Given the description of an element on the screen output the (x, y) to click on. 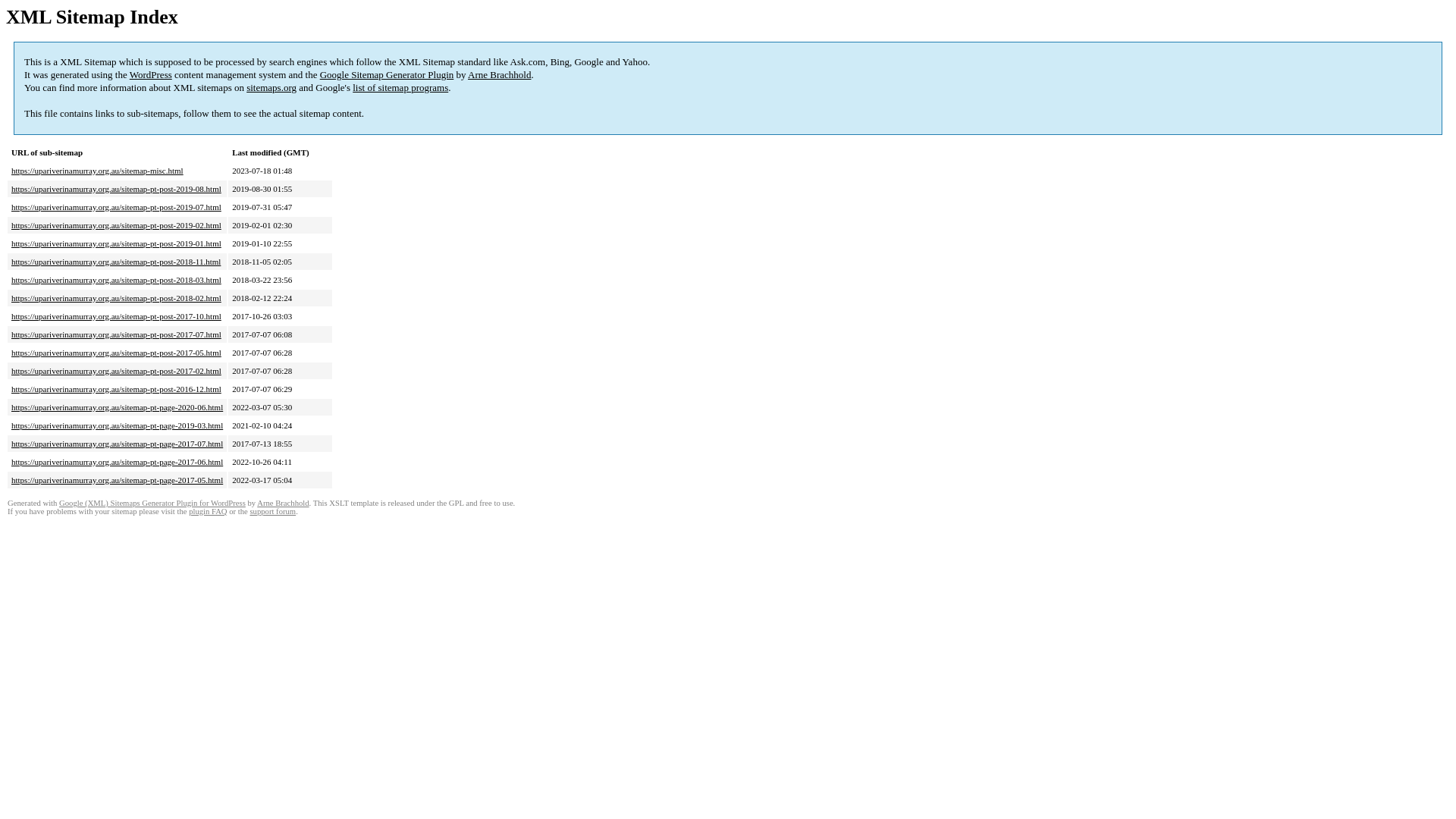
Arne Brachhold Element type: text (282, 502)
plugin FAQ Element type: text (207, 511)
support forum Element type: text (272, 511)
Arne Brachhold Element type: text (498, 74)
Google Sitemap Generator Plugin Element type: text (387, 74)
list of sitemap programs Element type: text (400, 87)
sitemaps.org Element type: text (271, 87)
Google (XML) Sitemaps Generator Plugin for WordPress Element type: text (152, 502)
https://upariverinamurray.org.au/sitemap-misc.html Element type: text (97, 170)
WordPress Element type: text (150, 74)
